Given the description of an element on the screen output the (x, y) to click on. 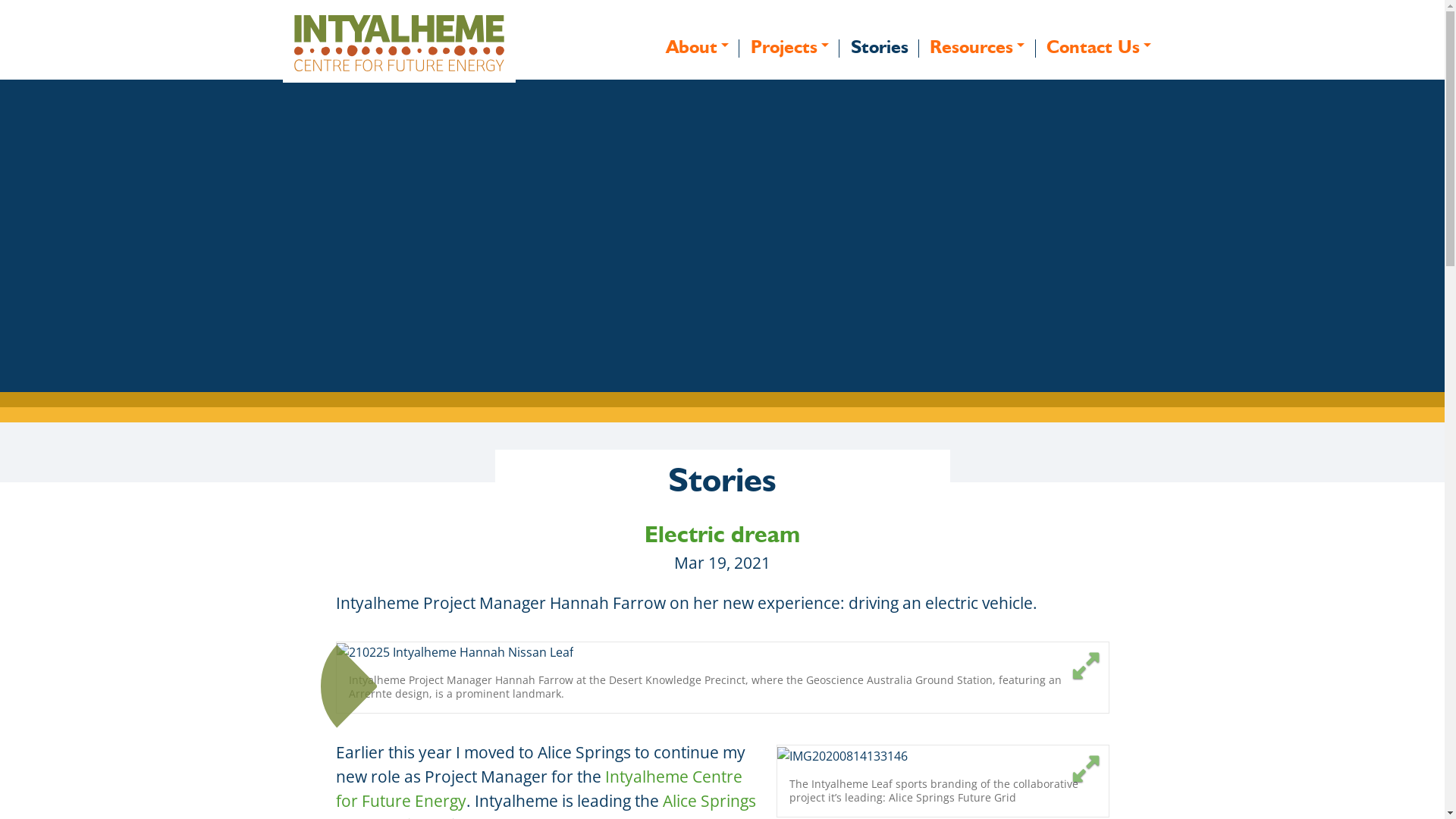
About Element type: text (697, 47)
Resources Element type: text (977, 47)
Contact Us Element type: text (1098, 47)
Projects Element type: text (789, 47)
Stories Element type: text (879, 47)
Magnify Element type: text (1085, 769)
Magnify Element type: text (1085, 665)
